Given the description of an element on the screen output the (x, y) to click on. 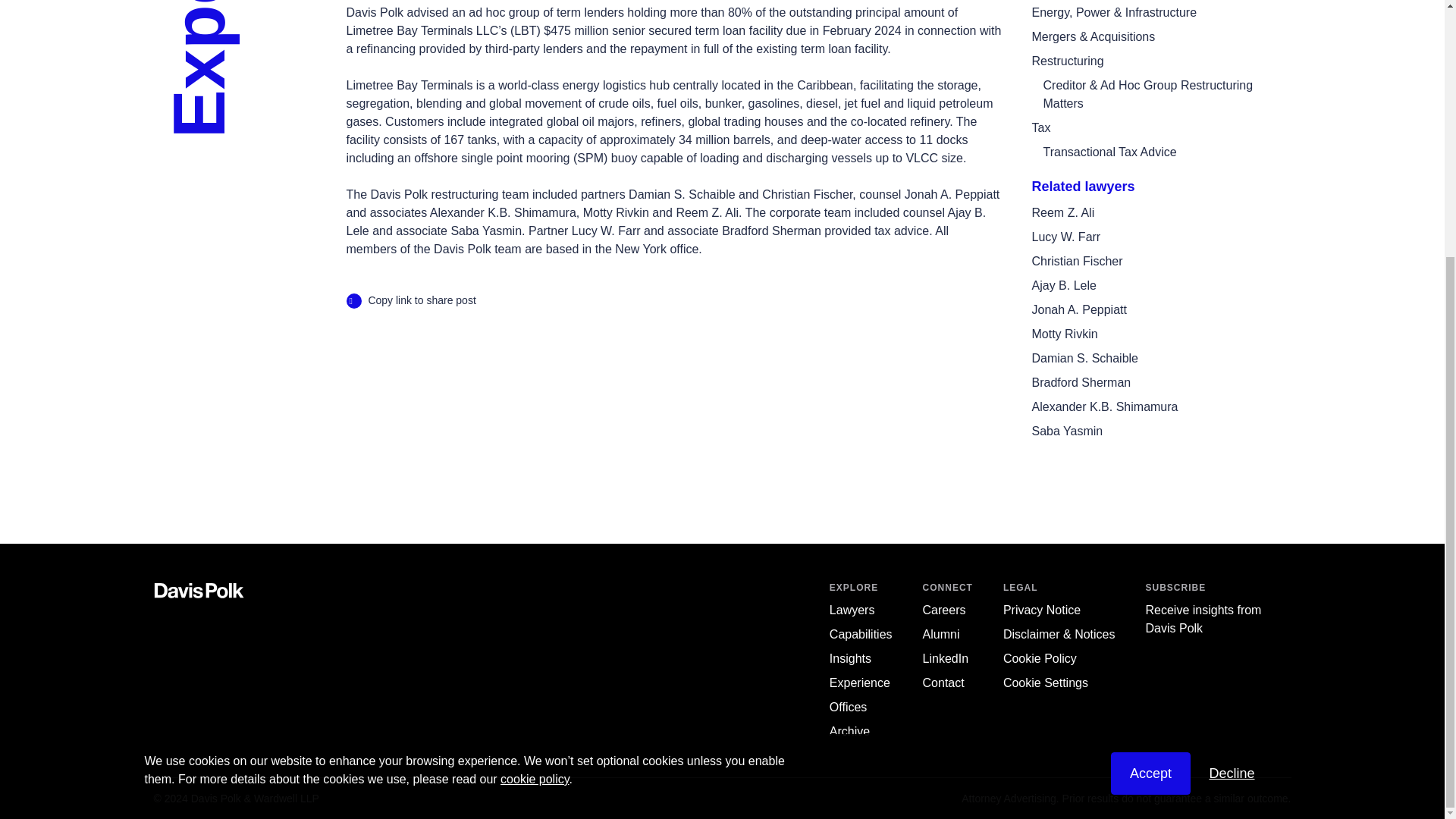
Toggle the cookie consent settings tray (1045, 682)
Client Updates (849, 658)
